Given the description of an element on the screen output the (x, y) to click on. 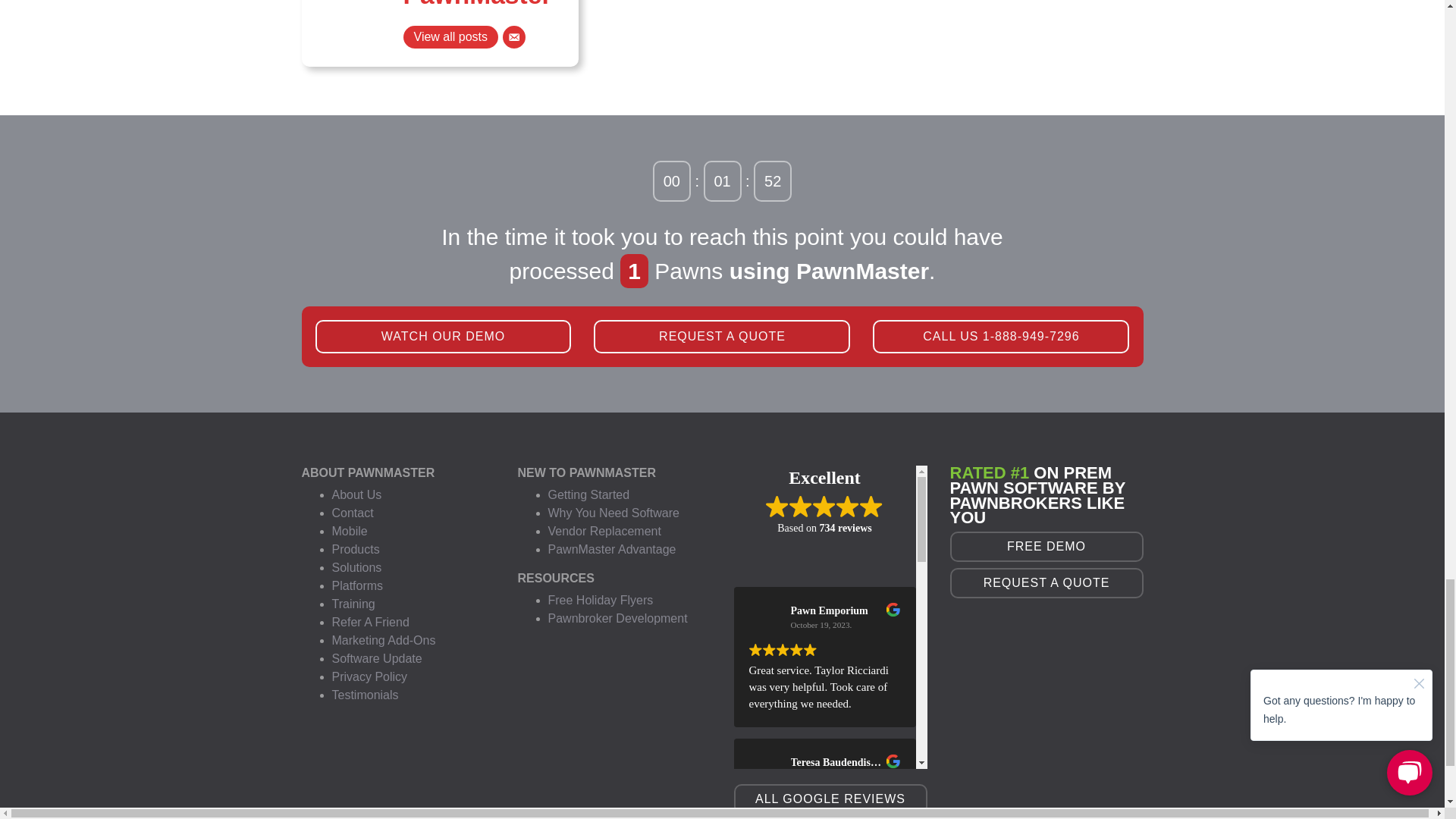
PawnMaster (477, 4)
View all posts (451, 36)
